Given the description of an element on the screen output the (x, y) to click on. 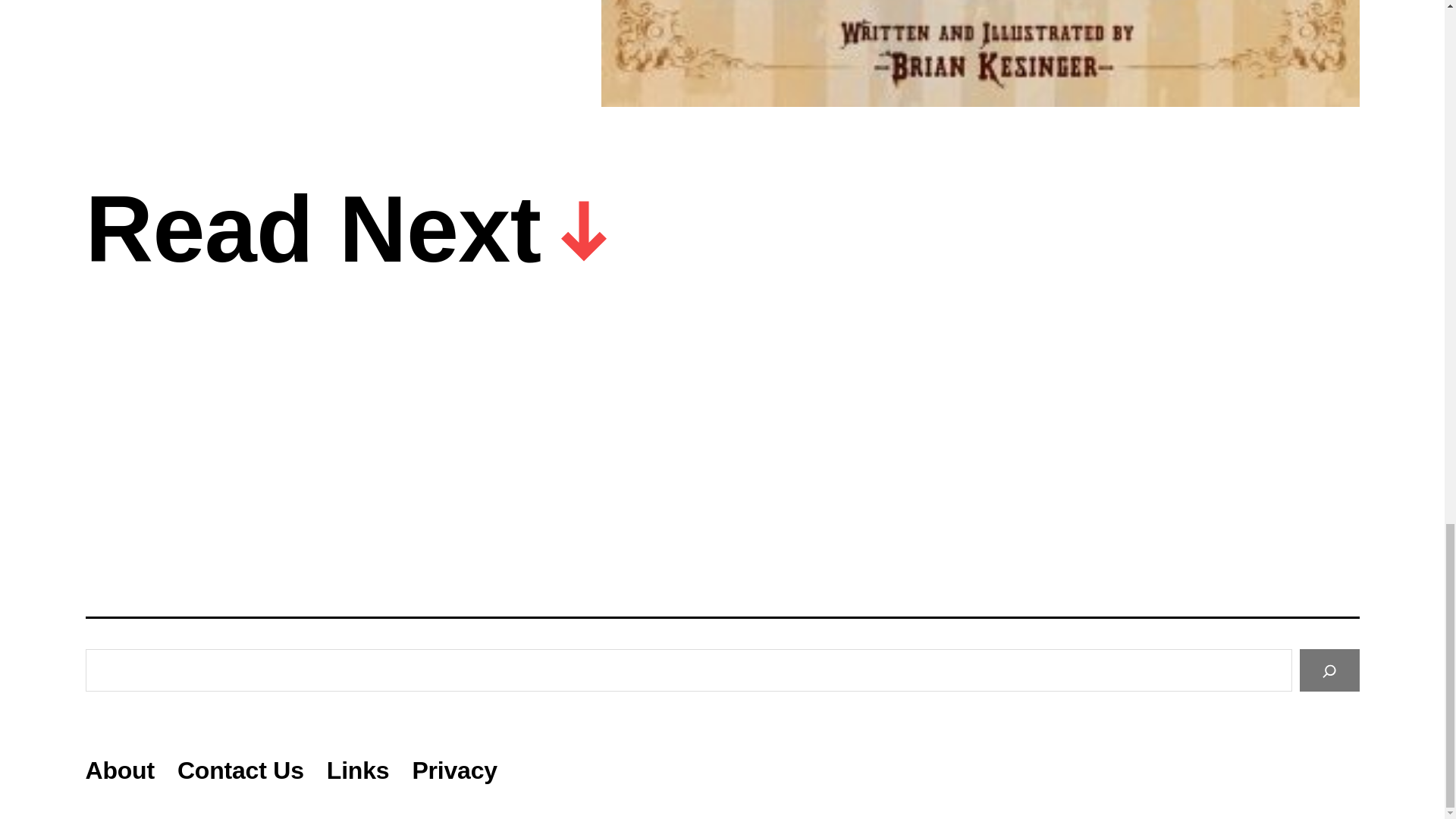
Links (358, 769)
Privacy (454, 769)
Comment Form (312, 47)
Contact Us (240, 769)
About (119, 769)
